Given the description of an element on the screen output the (x, y) to click on. 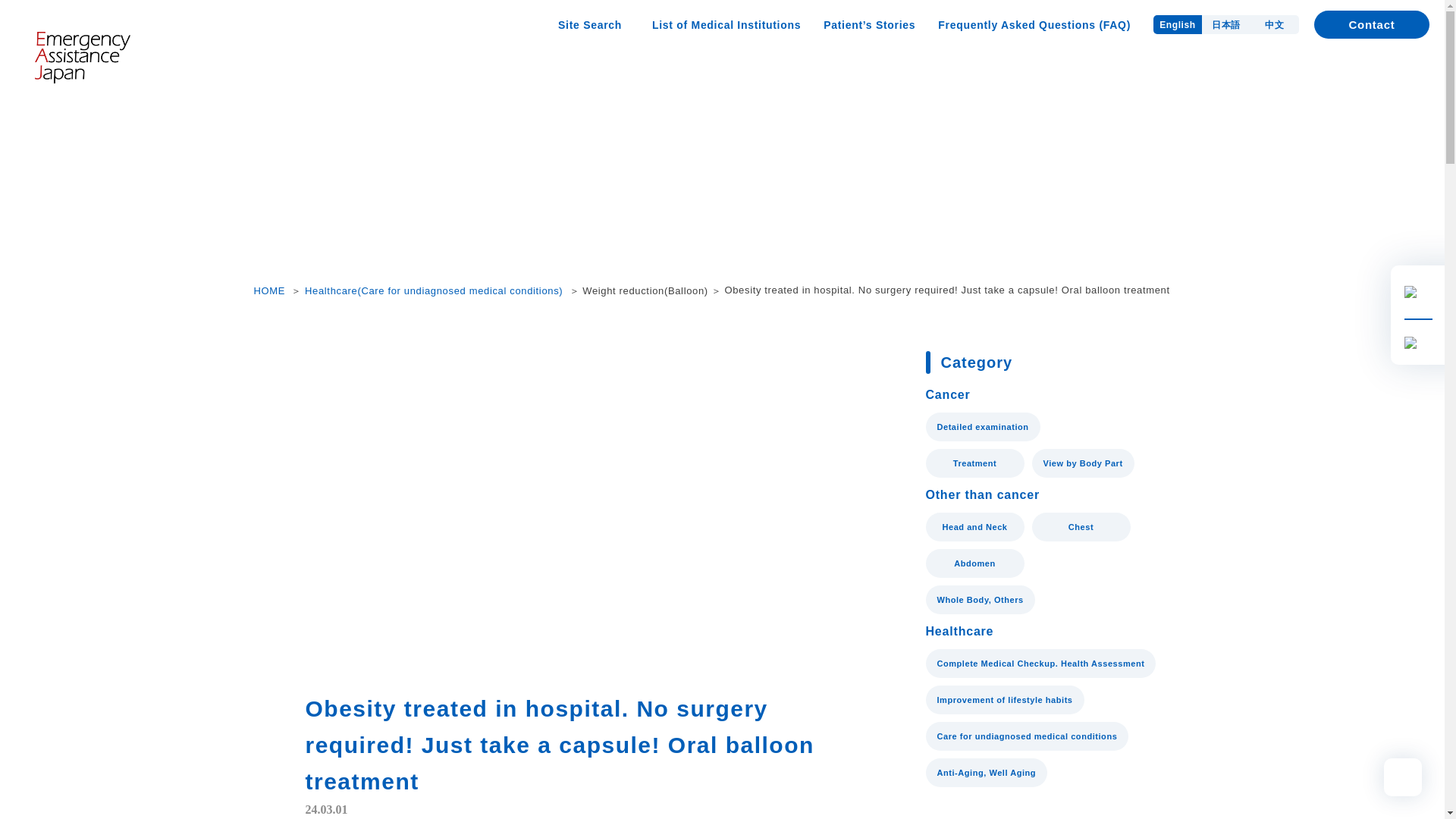
Anti-Aging, Well Aging (985, 772)
List of Medical Institutions (726, 24)
English (1177, 24)
Chinese (1274, 24)
Contact (1371, 24)
Abdomen (973, 563)
Complete Medical Checkup. Health Assessment (1040, 663)
English (1177, 24)
Head and Neck (973, 526)
Care for undiagnosed medical conditions (1026, 736)
Japanese (1226, 24)
HOME (269, 290)
Chest (1079, 526)
Improvement of lifestyle habits (1003, 699)
View by Body Part (1082, 462)
